Given the description of an element on the screen output the (x, y) to click on. 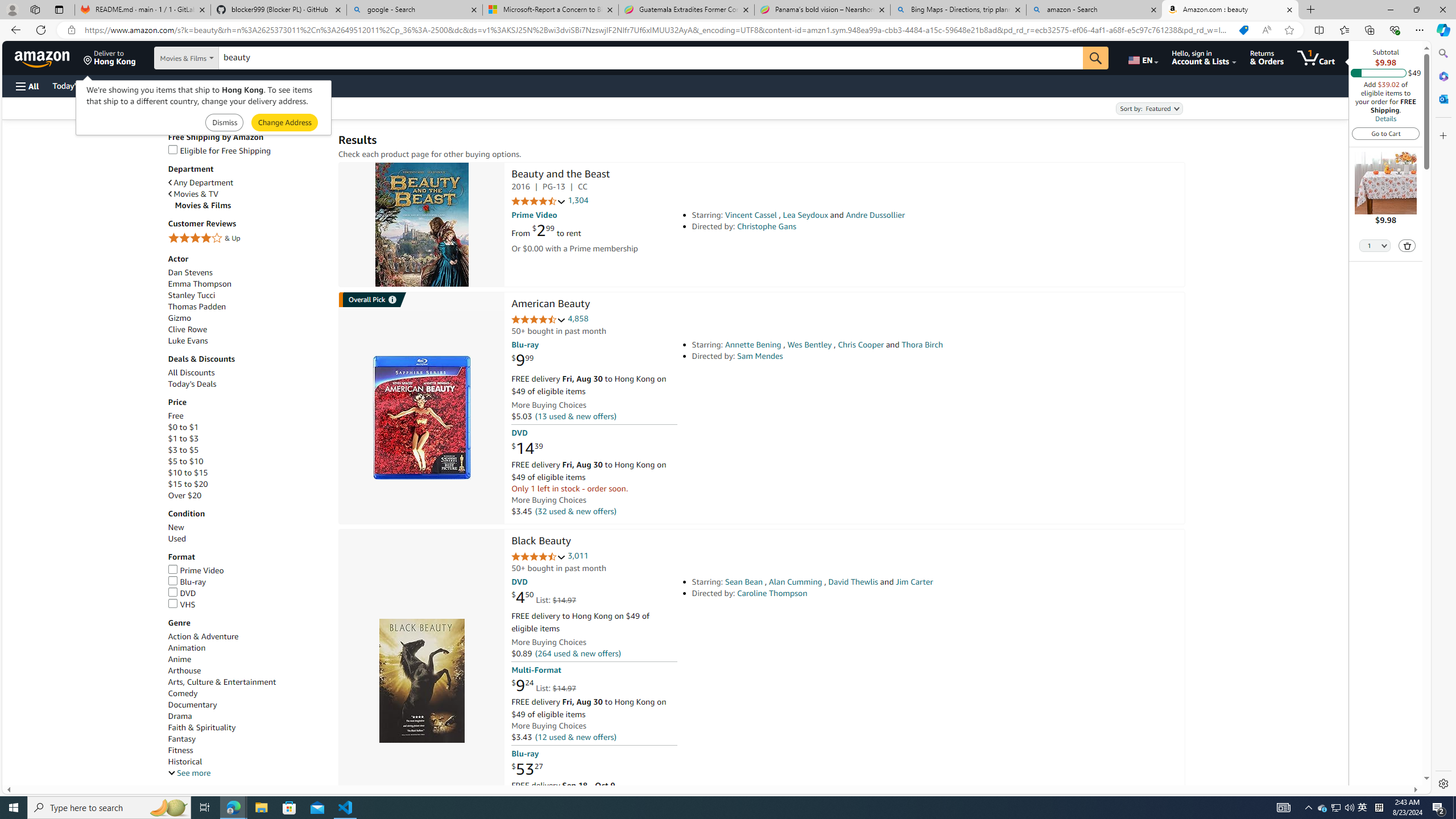
Historical (247, 761)
Directed by: Caroline Thompson (850, 593)
Drama (247, 716)
$0 to $1 (247, 427)
Sam Mendes (759, 355)
Fantasy (247, 738)
Clive Rowe (187, 329)
Black Beauty (421, 681)
$1 to $3 (183, 438)
Historical (184, 761)
Multi-Format (536, 670)
